Given the description of an element on the screen output the (x, y) to click on. 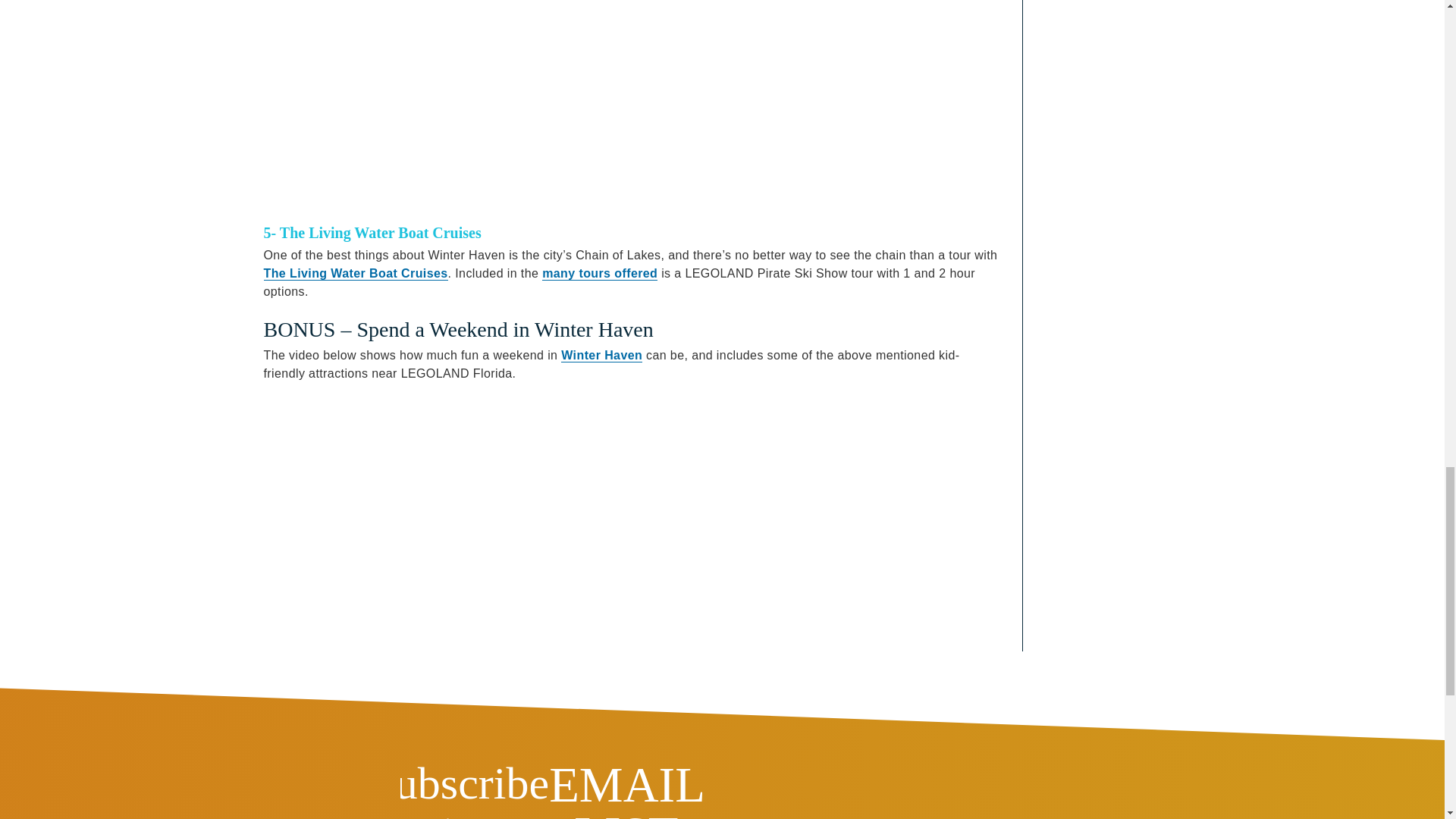
many tours offered (599, 273)
The Living Water Boat Cruises (355, 273)
Winter Haven (601, 355)
